Given the description of an element on the screen output the (x, y) to click on. 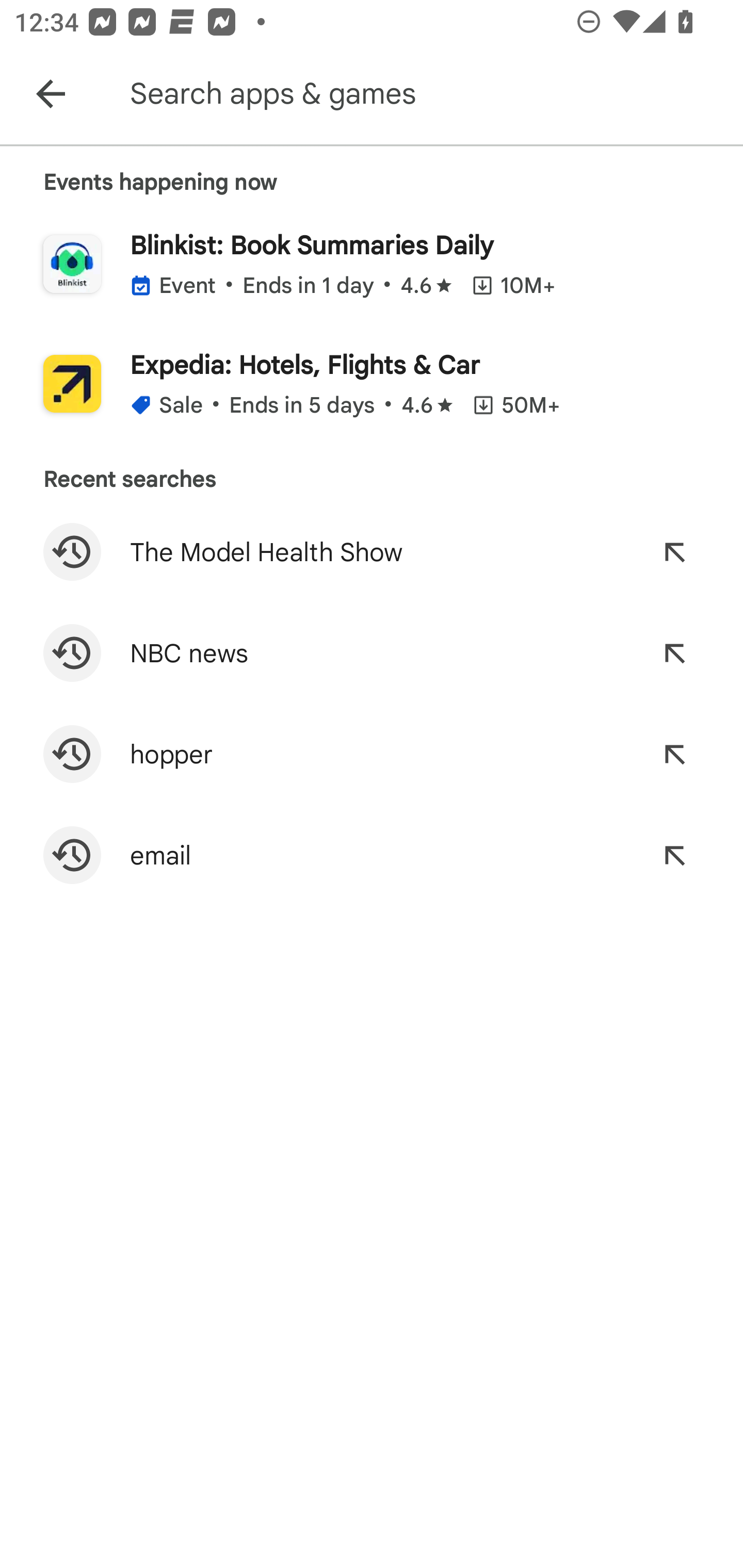
Navigate up (50, 93)
Search apps & games (432, 93)
Refine search to "The Model Health Show" (673, 551)
Search for "NBC news"  Refine search to "NBC news" (371, 653)
Refine search to "NBC news" (673, 653)
Search for "hopper"  Refine search to "hopper" (371, 754)
Refine search to "hopper" (673, 754)
Search for "email"  Refine search to "email" (371, 855)
Refine search to "email" (673, 855)
